Given the description of an element on the screen output the (x, y) to click on. 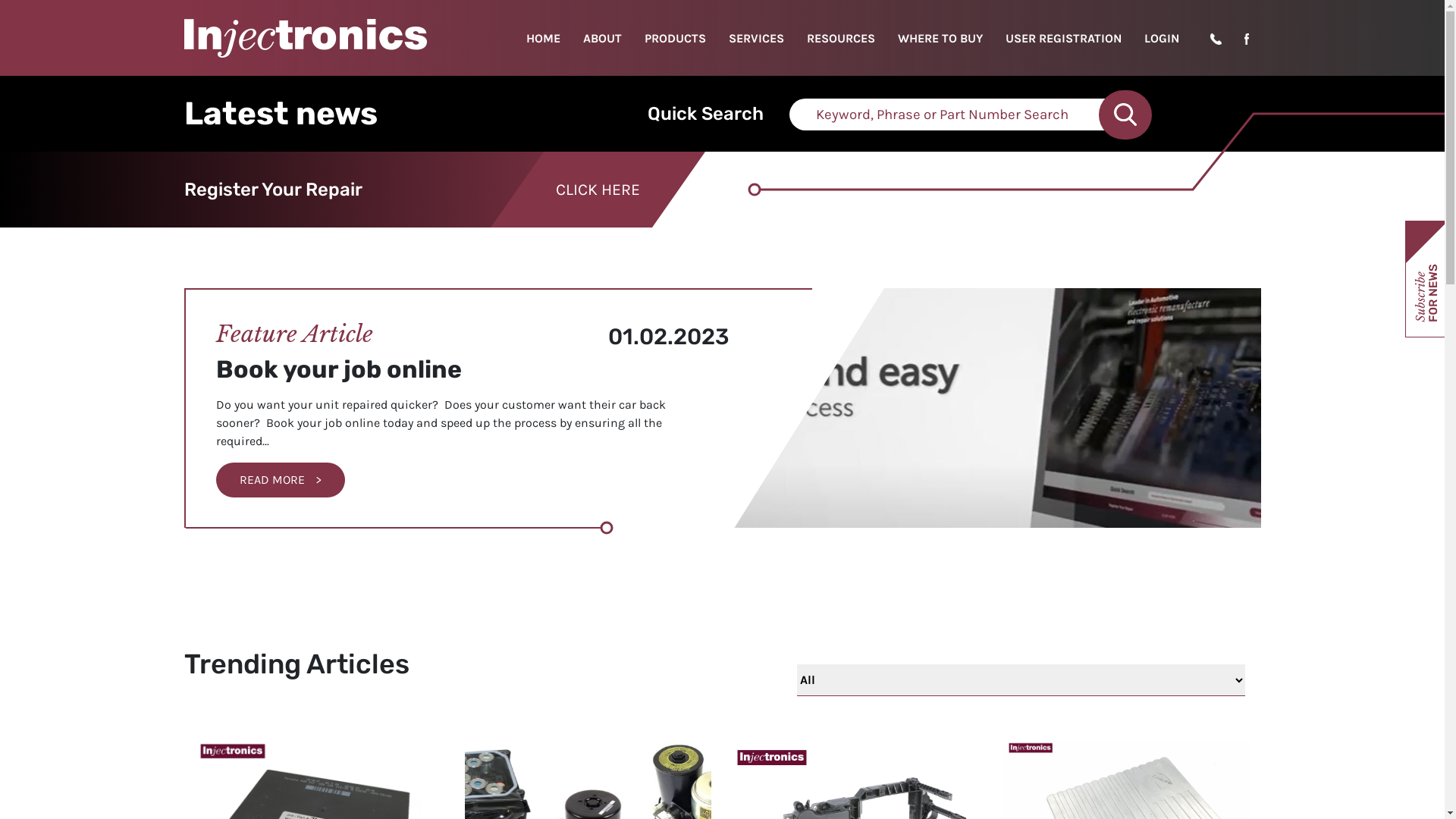
Search Element type: text (1124, 114)
LOGIN Element type: text (1161, 37)
HOME Element type: text (543, 37)
ABOUT Element type: text (602, 37)
CLICK HERE Element type: text (597, 189)
READ MORE Element type: text (279, 479)
PRODUCTS Element type: text (675, 37)
WHERE TO BUY Element type: text (939, 37)
USER REGISTRATION Element type: text (1063, 37)
SERVICES Element type: text (756, 37)
RESOURCES Element type: text (840, 37)
